Given the description of an element on the screen output the (x, y) to click on. 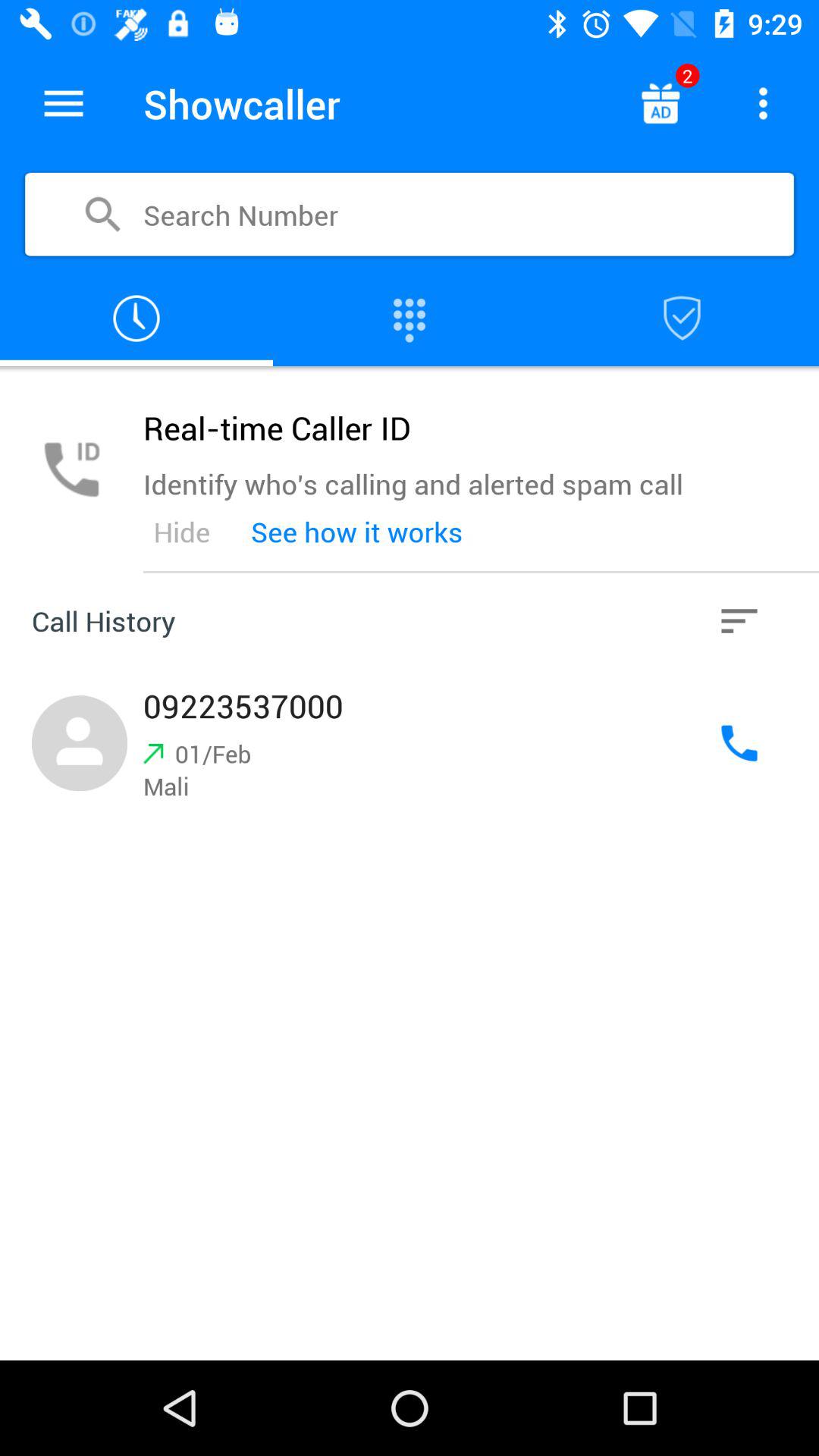
show call history (136, 318)
